Given the description of an element on the screen output the (x, y) to click on. 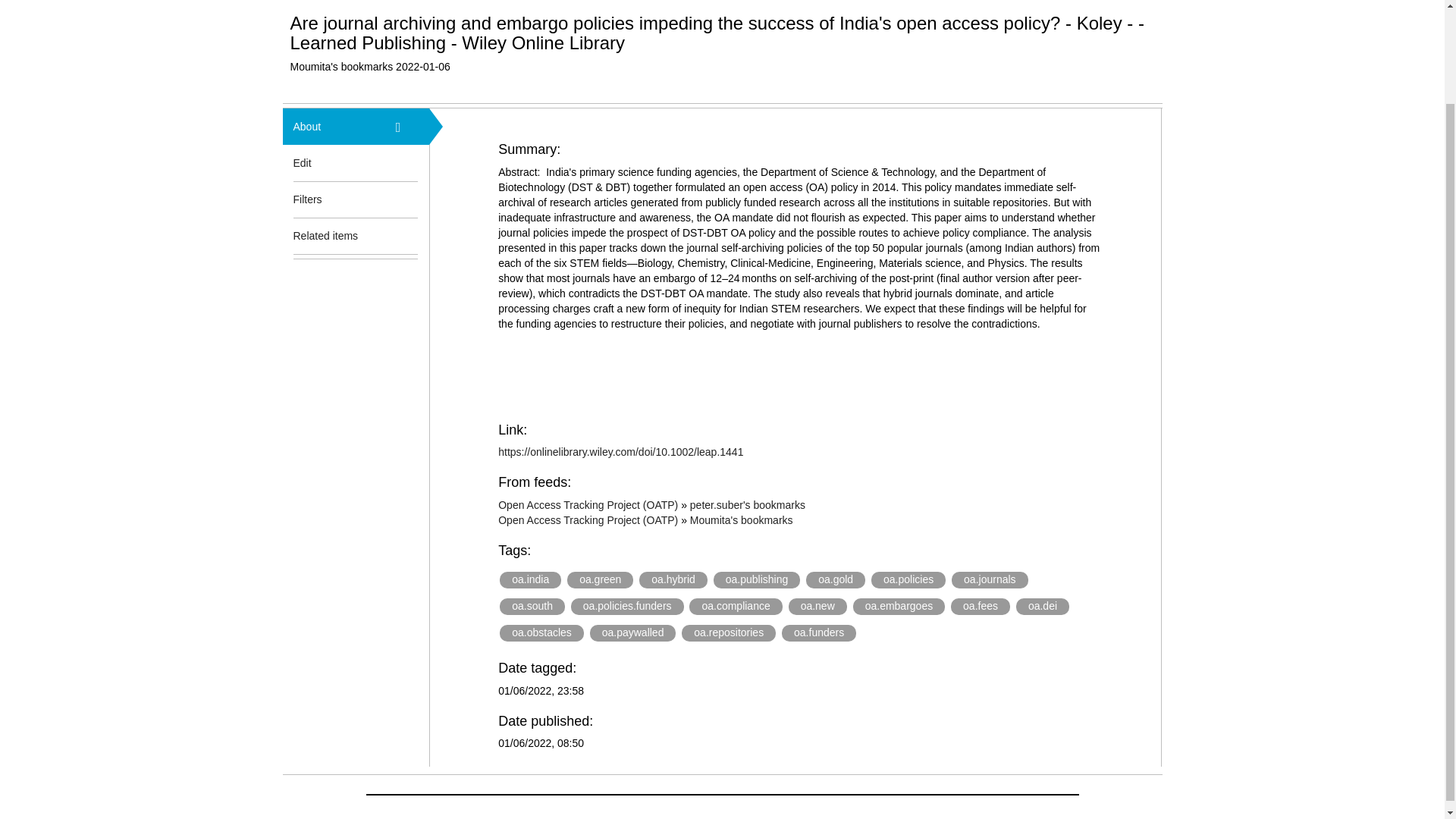
Item-level tag filters (407, 198)
oa.policies (907, 579)
oa.policies.funders (627, 606)
oa.green (600, 579)
oa.compliance (734, 606)
oa.funders (818, 632)
Items related to this feed item (407, 235)
oa.hybrid (673, 579)
oa.india (529, 579)
oa.south (531, 606)
Edit (301, 162)
oa.paywalled (633, 632)
oa.new (818, 606)
Moumita's bookmarks (741, 520)
oa.dei (1042, 606)
